Given the description of an element on the screen output the (x, y) to click on. 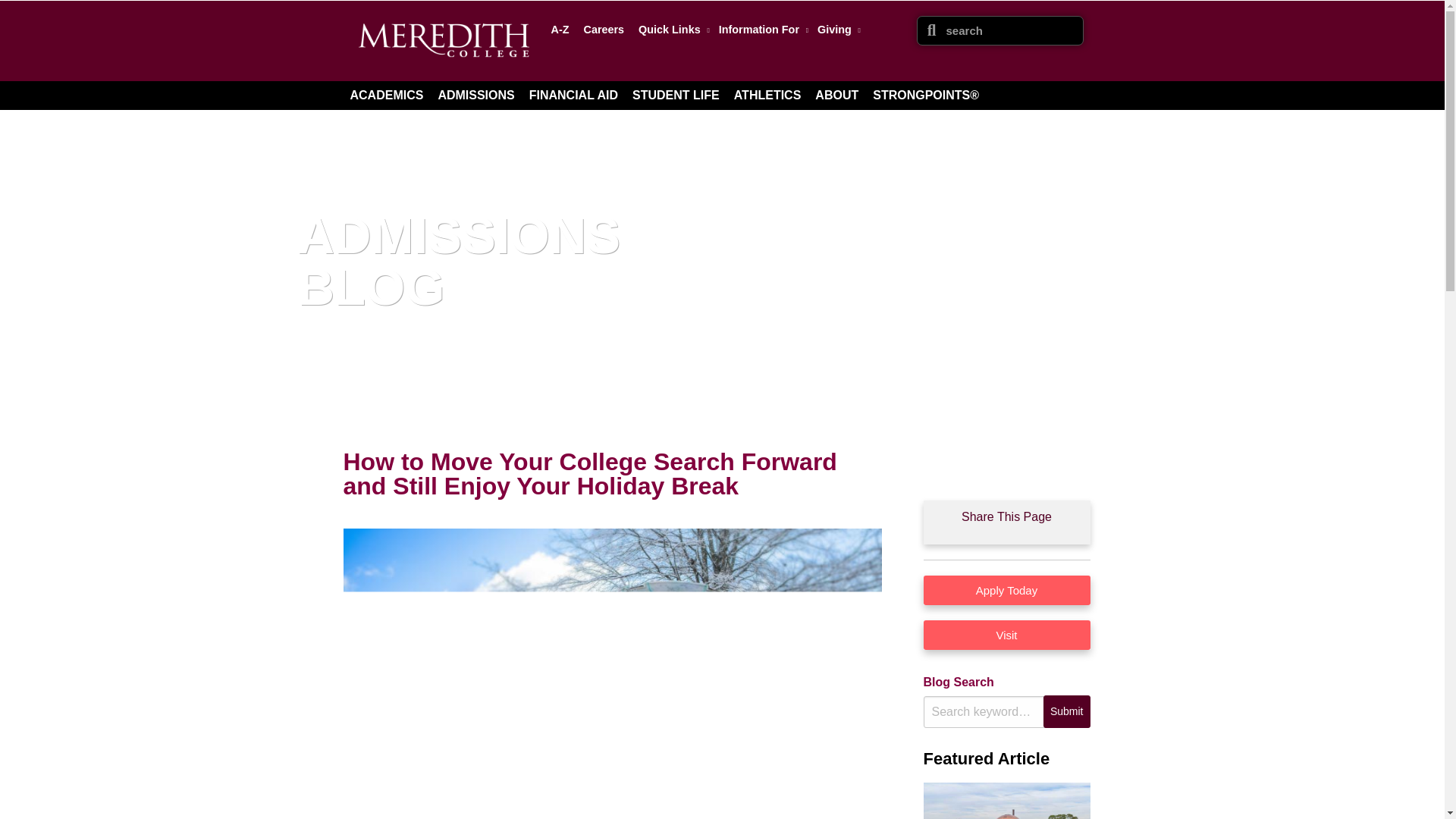
Giving (836, 29)
A-Z (559, 29)
ADMISSIONS (475, 95)
Submit (1066, 711)
STUDENT LIFE (675, 95)
ATHLETICS (767, 95)
ACADEMICS (386, 95)
ABOUT (837, 95)
Quick Links (670, 29)
Information For (760, 29)
